Given the description of an element on the screen output the (x, y) to click on. 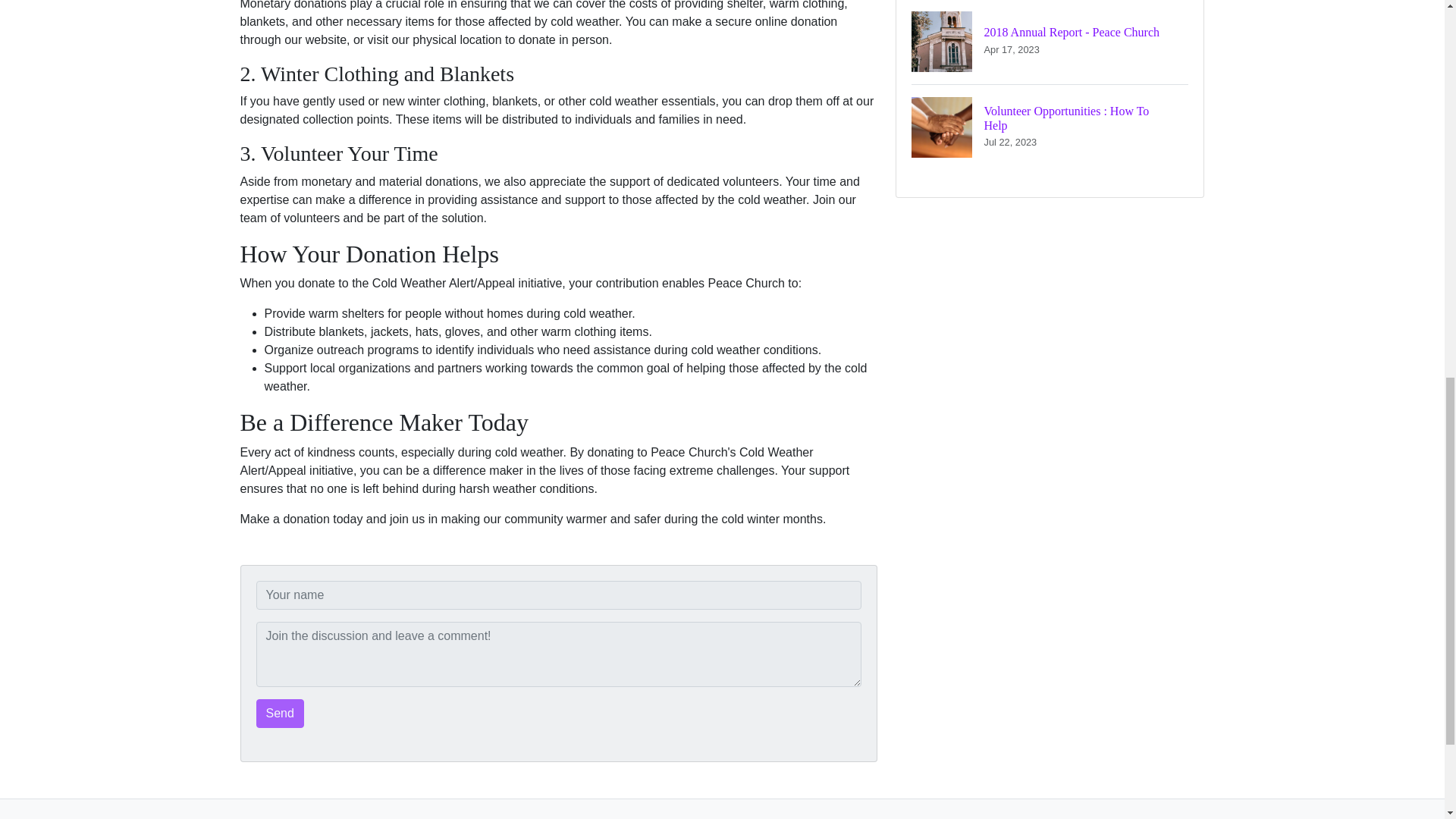
Send (280, 713)
Send (1050, 126)
